Given the description of an element on the screen output the (x, y) to click on. 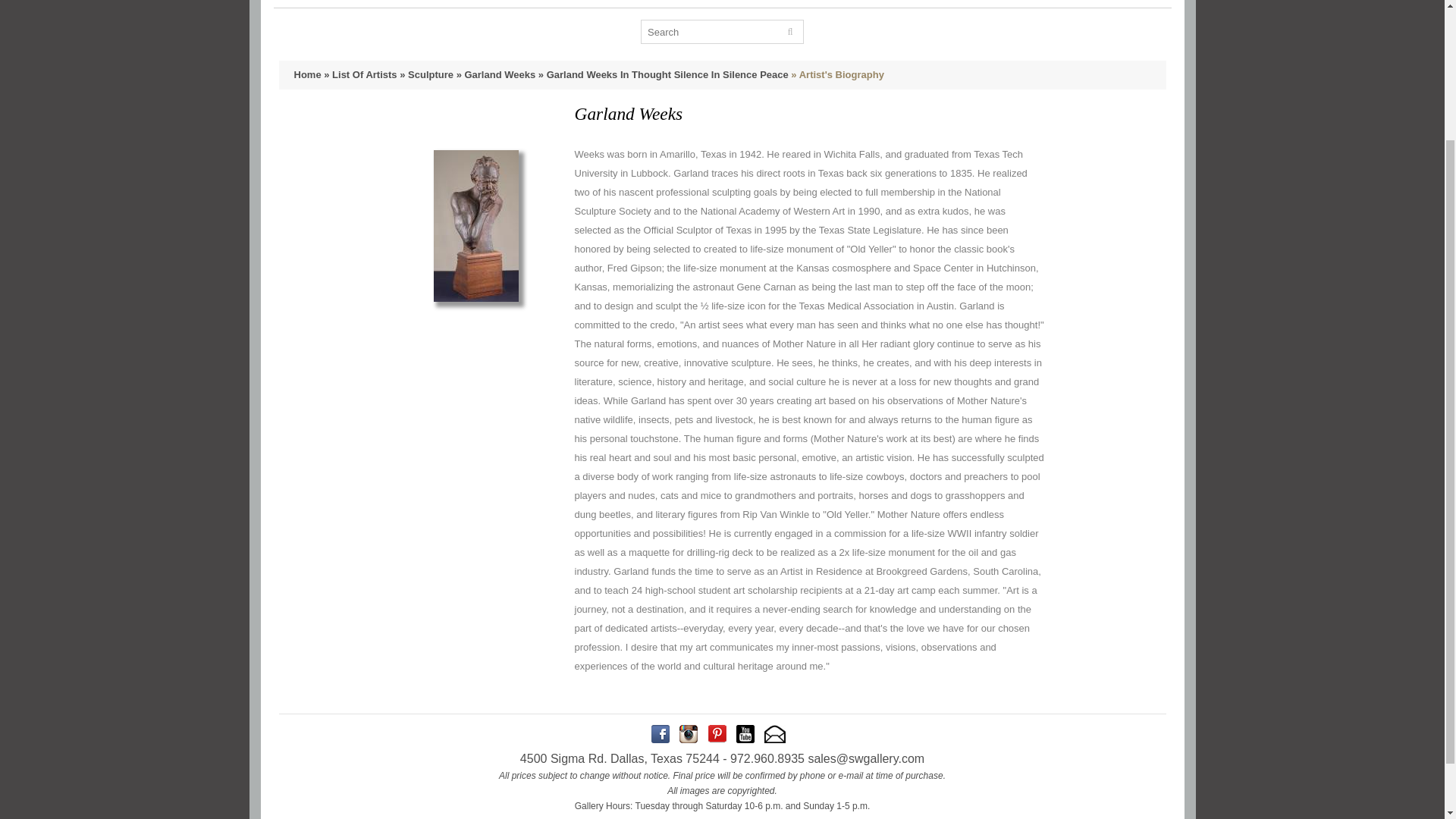
Youtube (745, 733)
Home (307, 74)
Pinterest (716, 733)
Facebook (659, 733)
Instagram (688, 733)
